Given the description of an element on the screen output the (x, y) to click on. 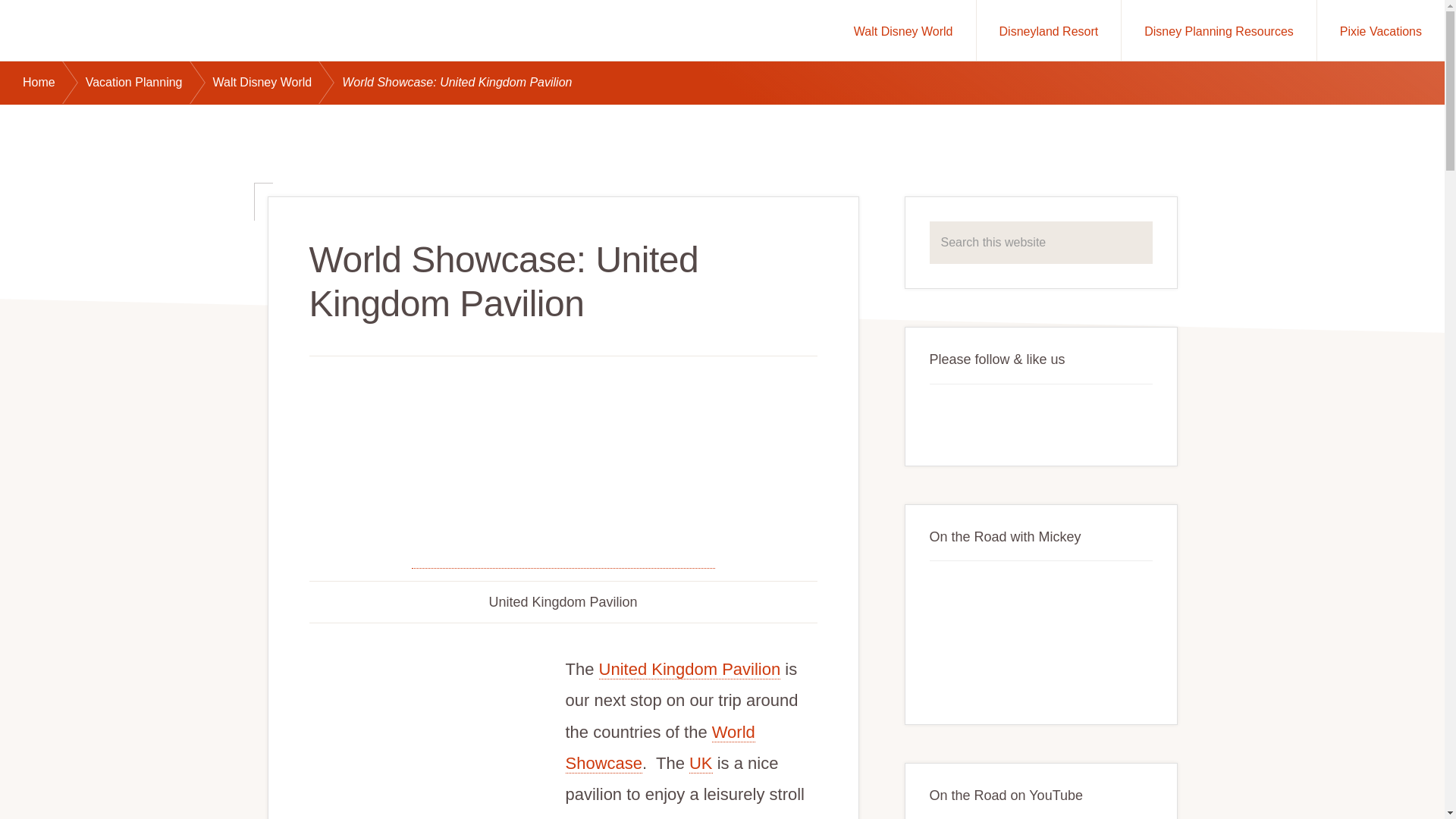
Close and accept (1372, 788)
Walt Disney World (903, 30)
Disneyland Resort (1048, 30)
United Kingdom (700, 763)
Epcot (660, 747)
Facebook (947, 417)
